Given the description of an element on the screen output the (x, y) to click on. 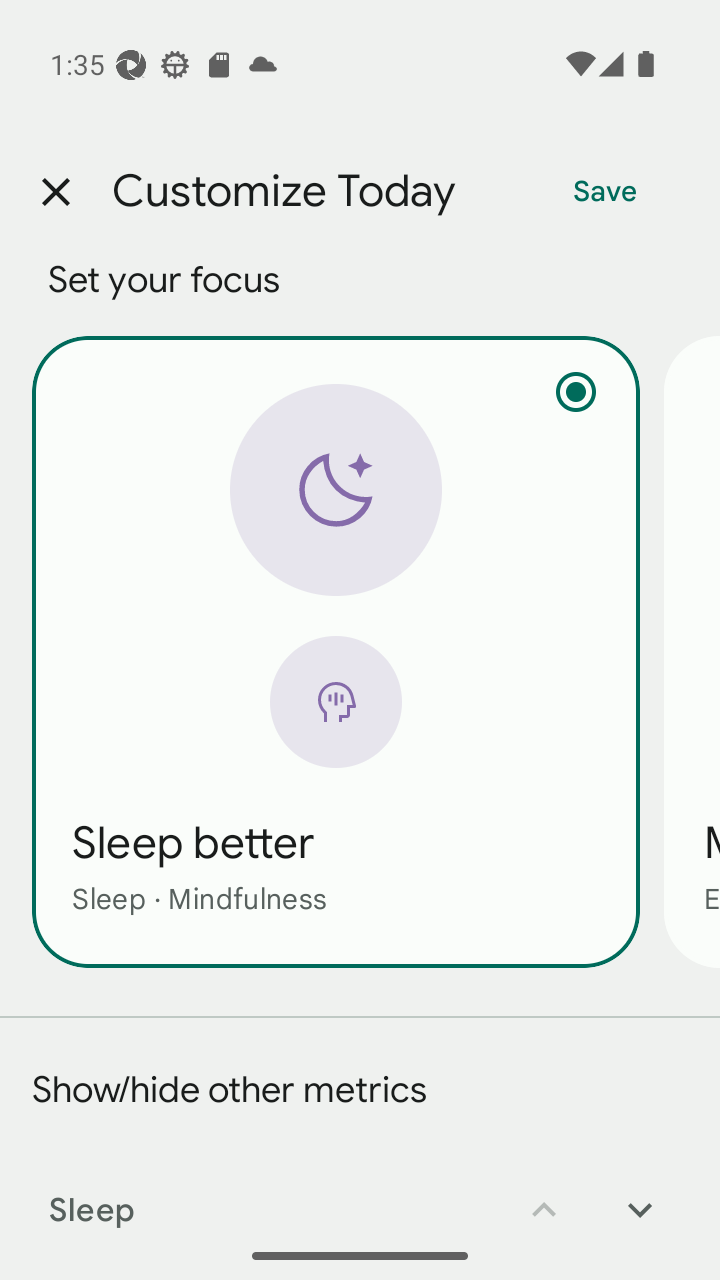
Close (55, 191)
Save (605, 191)
Sleep better Sleep · Mindfulness (335, 651)
Move Sleep up (543, 1196)
Move Sleep down (639, 1196)
